Given the description of an element on the screen output the (x, y) to click on. 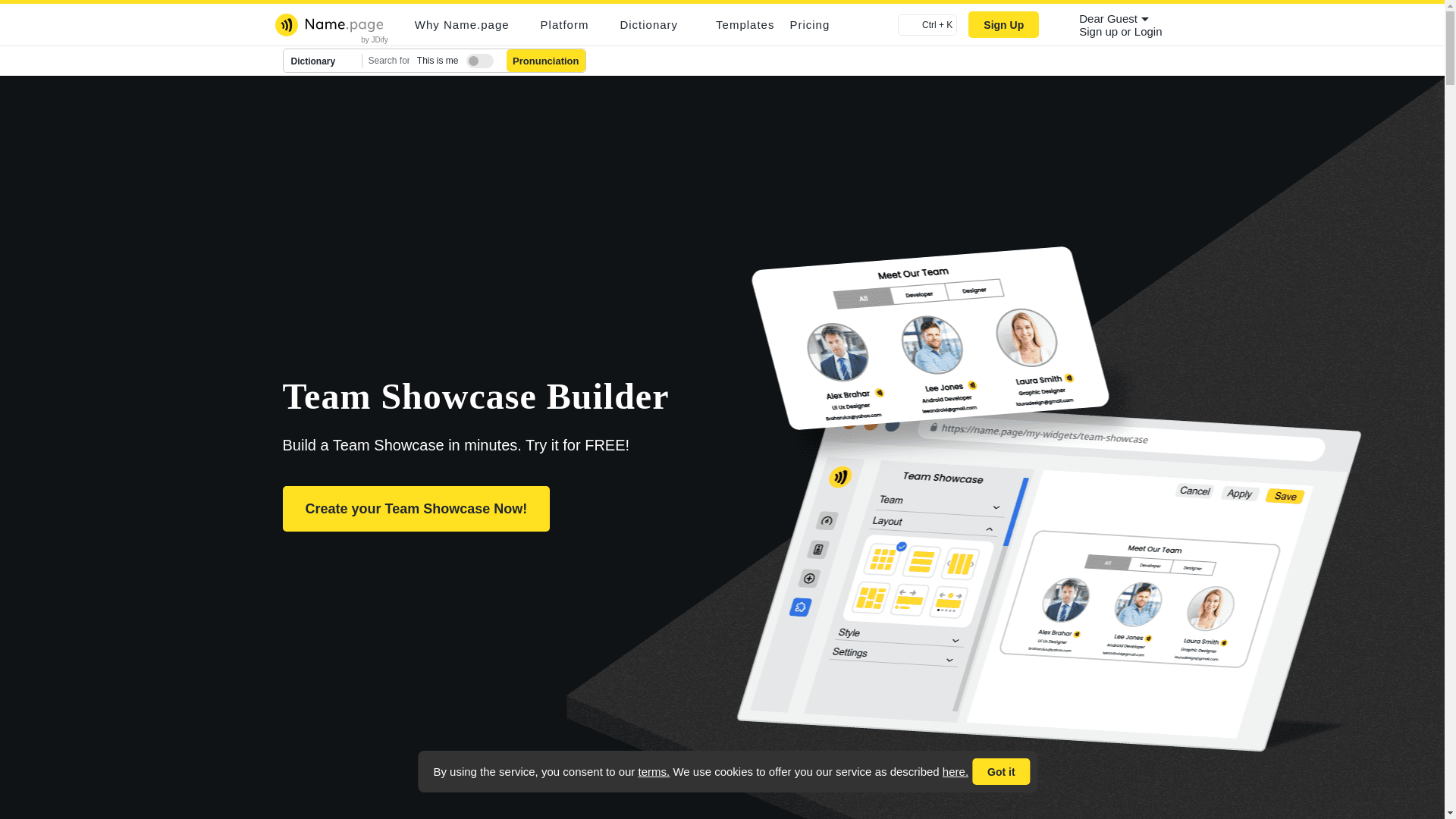
Sign in to your account (1147, 31)
Login (1147, 31)
Is this your name? (476, 58)
by JDify (374, 39)
Pronunciation (545, 60)
Search name pronunciation (545, 60)
Templates (745, 24)
Sign-up it's free and takes just 2 minutes (1099, 31)
Dictionary (322, 60)
Sign Up (1003, 24)
Pricing (809, 24)
Sign up (1099, 31)
